Given the description of an element on the screen output the (x, y) to click on. 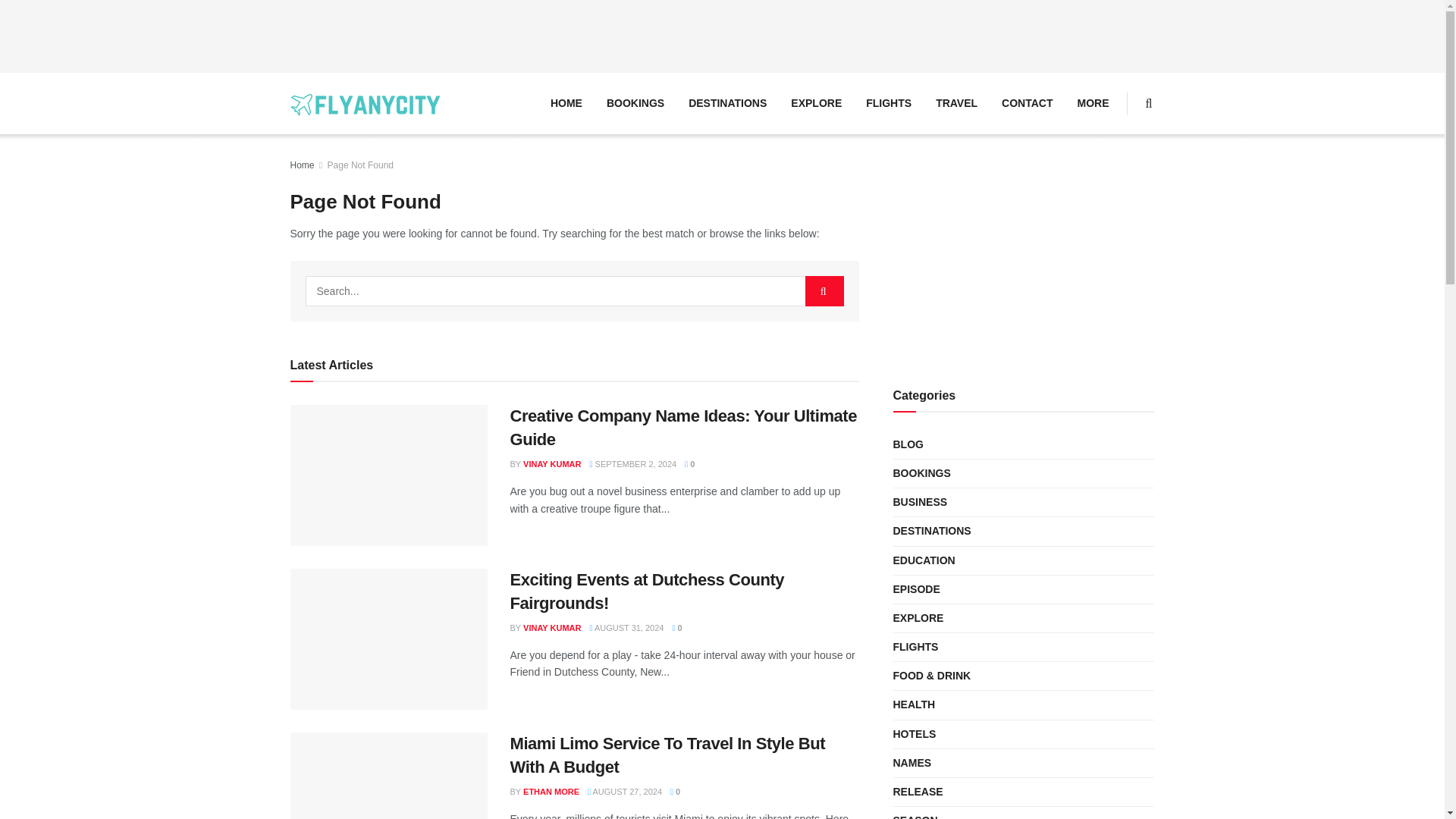
0 (689, 463)
SEPTEMBER 2, 2024 (633, 463)
MORE (1092, 103)
Home (301, 164)
TRAVEL (956, 103)
Creative Company Name Ideas: Your Ultimate Guide (683, 427)
DESTINATIONS (727, 103)
CONTACT (1027, 103)
Page Not Found (360, 164)
BOOKINGS (635, 103)
